Given the description of an element on the screen output the (x, y) to click on. 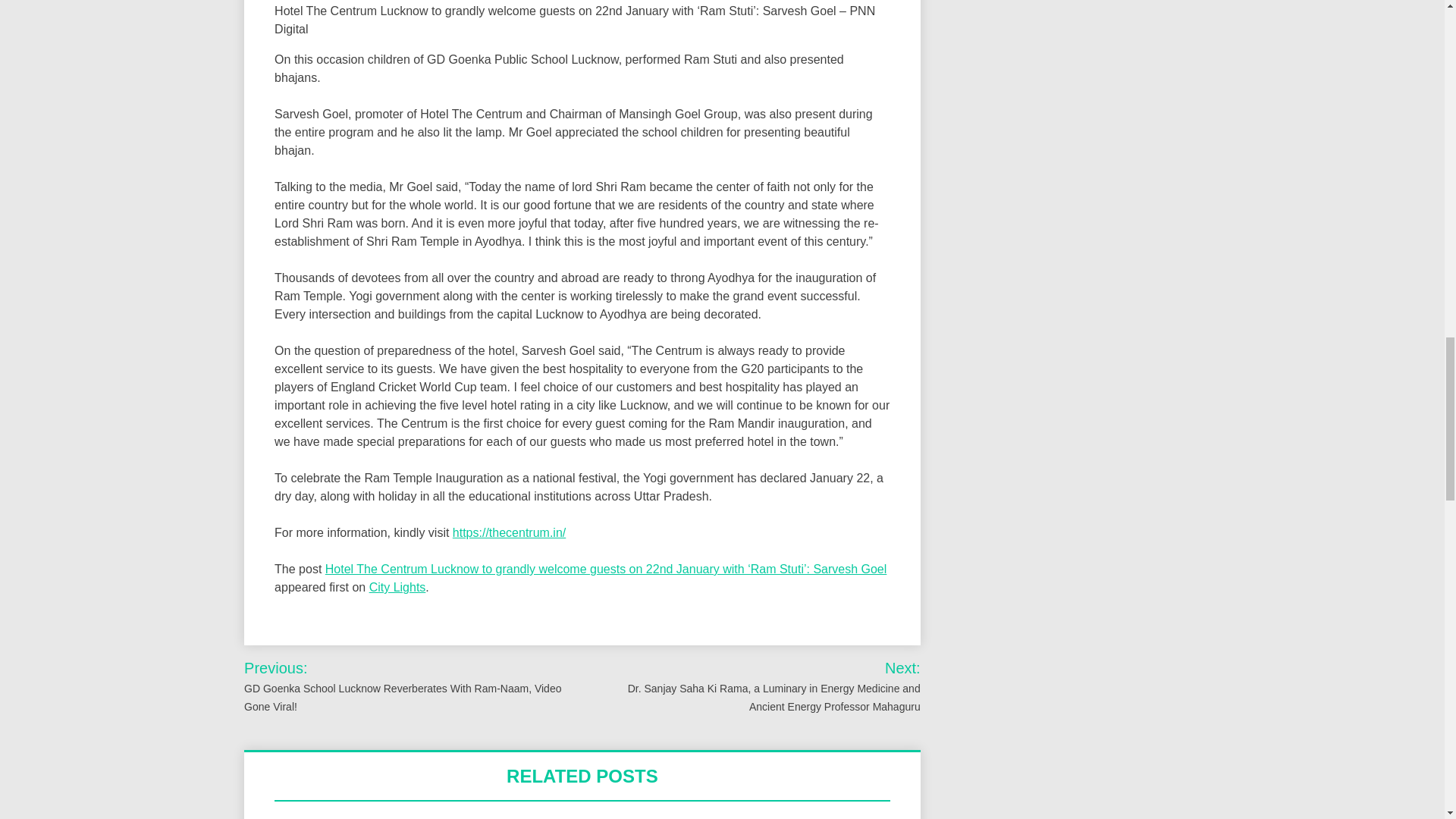
City Lights (397, 586)
